Given the description of an element on the screen output the (x, y) to click on. 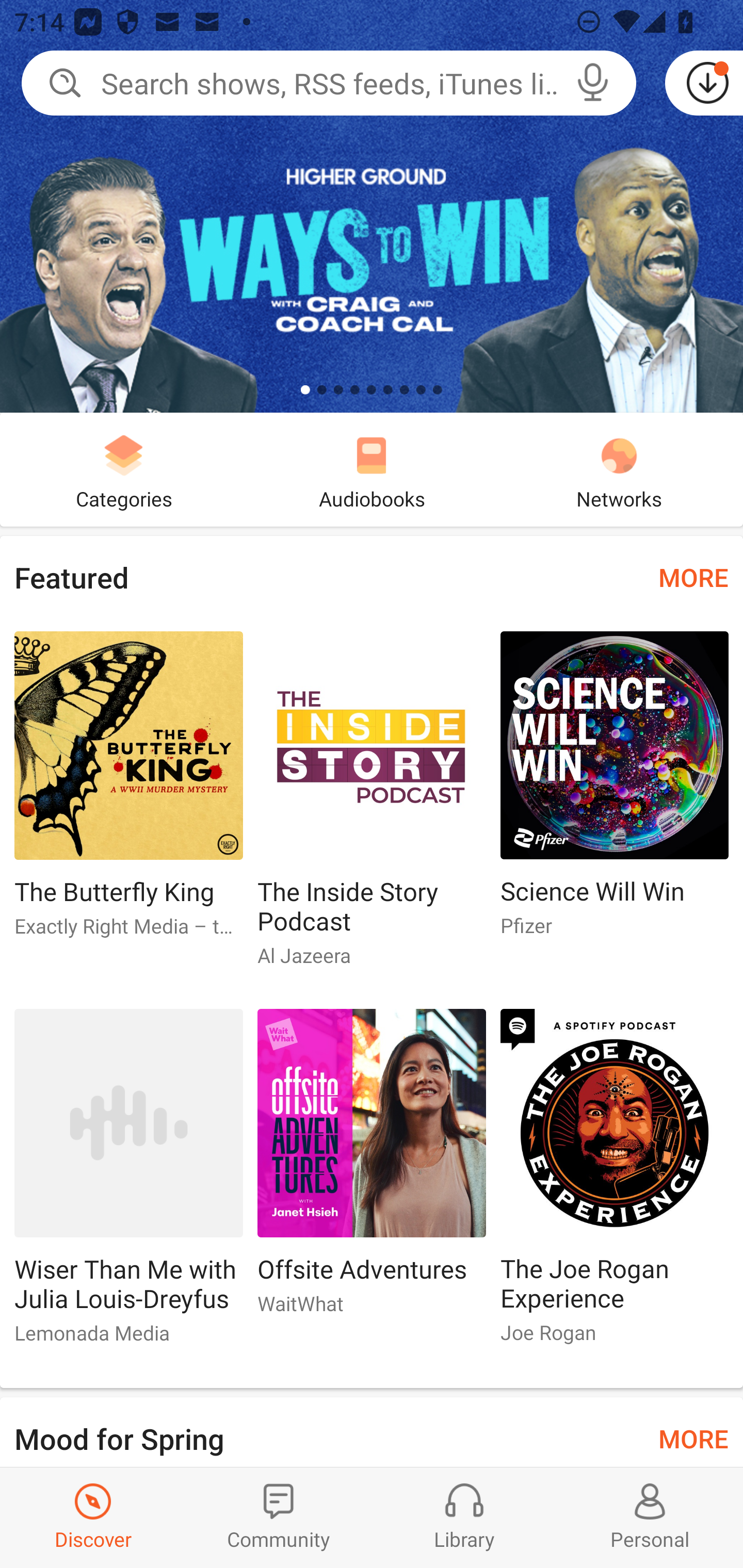
Ways To Win (371, 206)
Categories (123, 469)
Audiobooks (371, 469)
Networks (619, 469)
MORE (693, 576)
Science Will Win Science Will Win Pfizer (614, 792)
Offsite Adventures Offsite Adventures WaitWhat (371, 1169)
MORE (693, 1436)
Discover (92, 1517)
Community (278, 1517)
Library (464, 1517)
Profiles and Settings Personal (650, 1517)
